Given the description of an element on the screen output the (x, y) to click on. 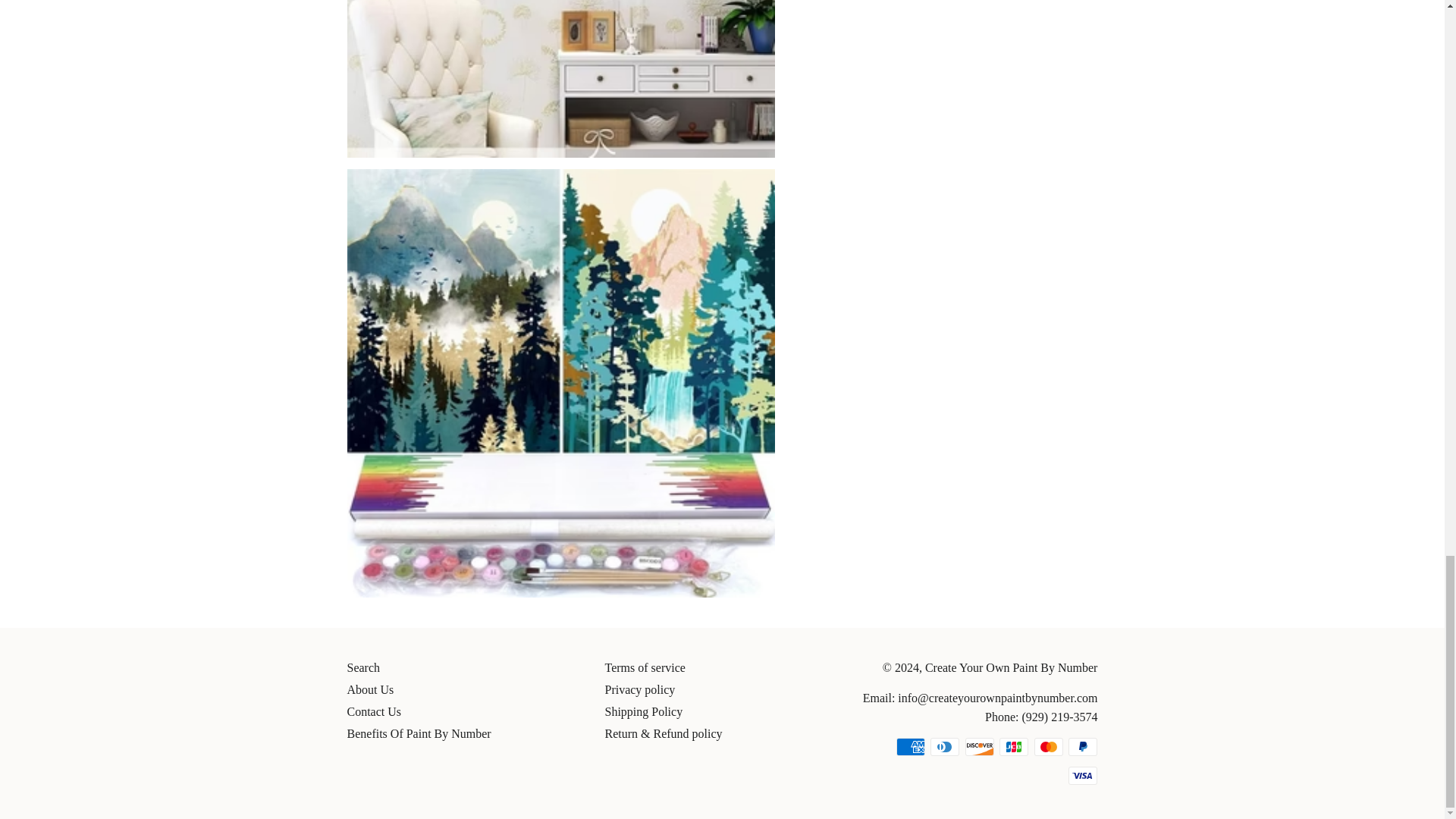
JCB (1012, 746)
Contact Us (374, 711)
Search (363, 667)
Create Your Own Paint By Number (1010, 667)
American Express (910, 746)
Shipping Policy (643, 711)
Mastercard (1047, 746)
Benefits Of Paint By Number (419, 733)
Discover (979, 746)
Visa (1082, 775)
